Given the description of an element on the screen output the (x, y) to click on. 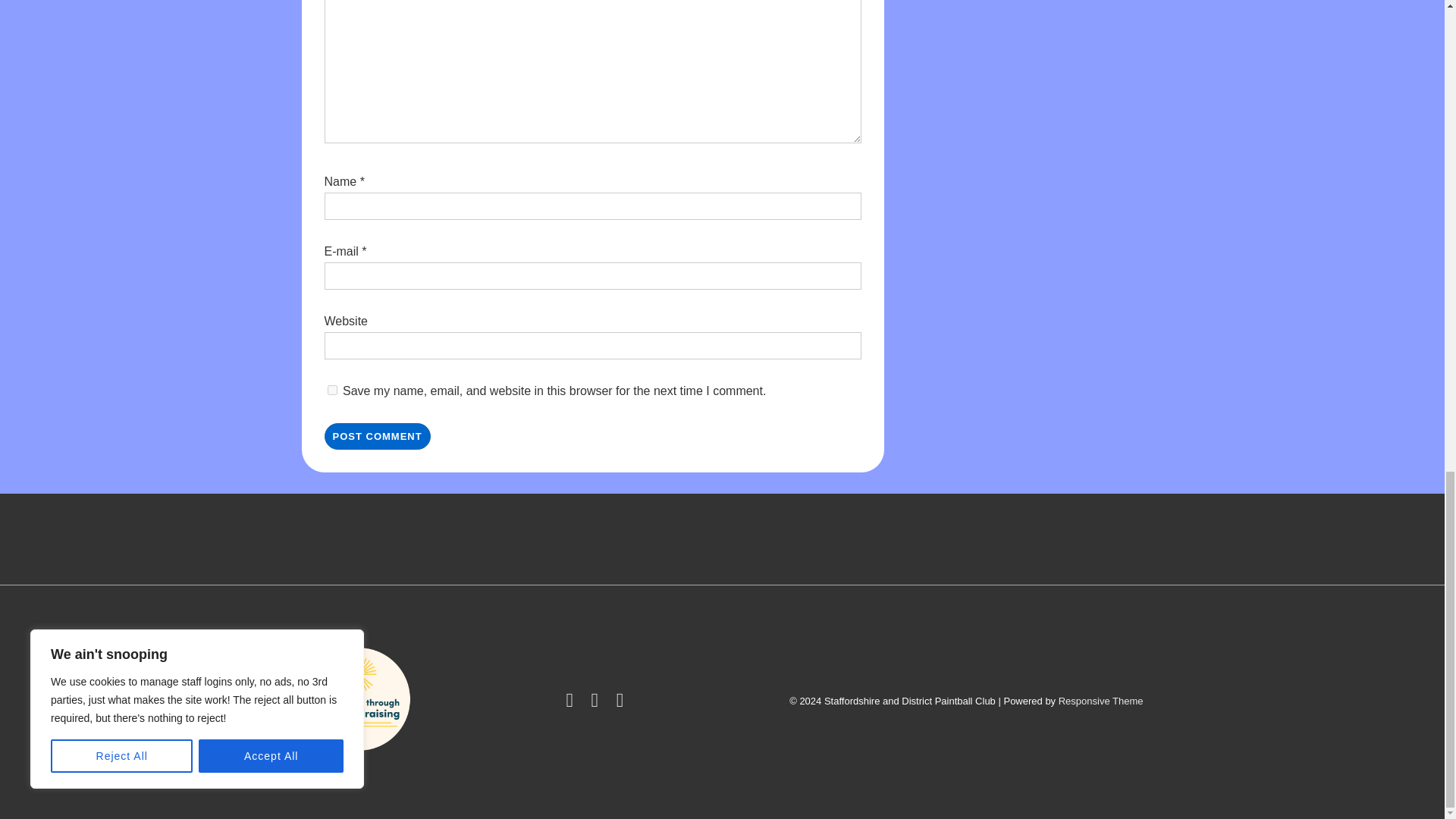
youtube (598, 703)
Post Comment (377, 436)
facebook (572, 703)
yes (332, 389)
instagram (621, 703)
Post Comment (377, 436)
